Given the description of an element on the screen output the (x, y) to click on. 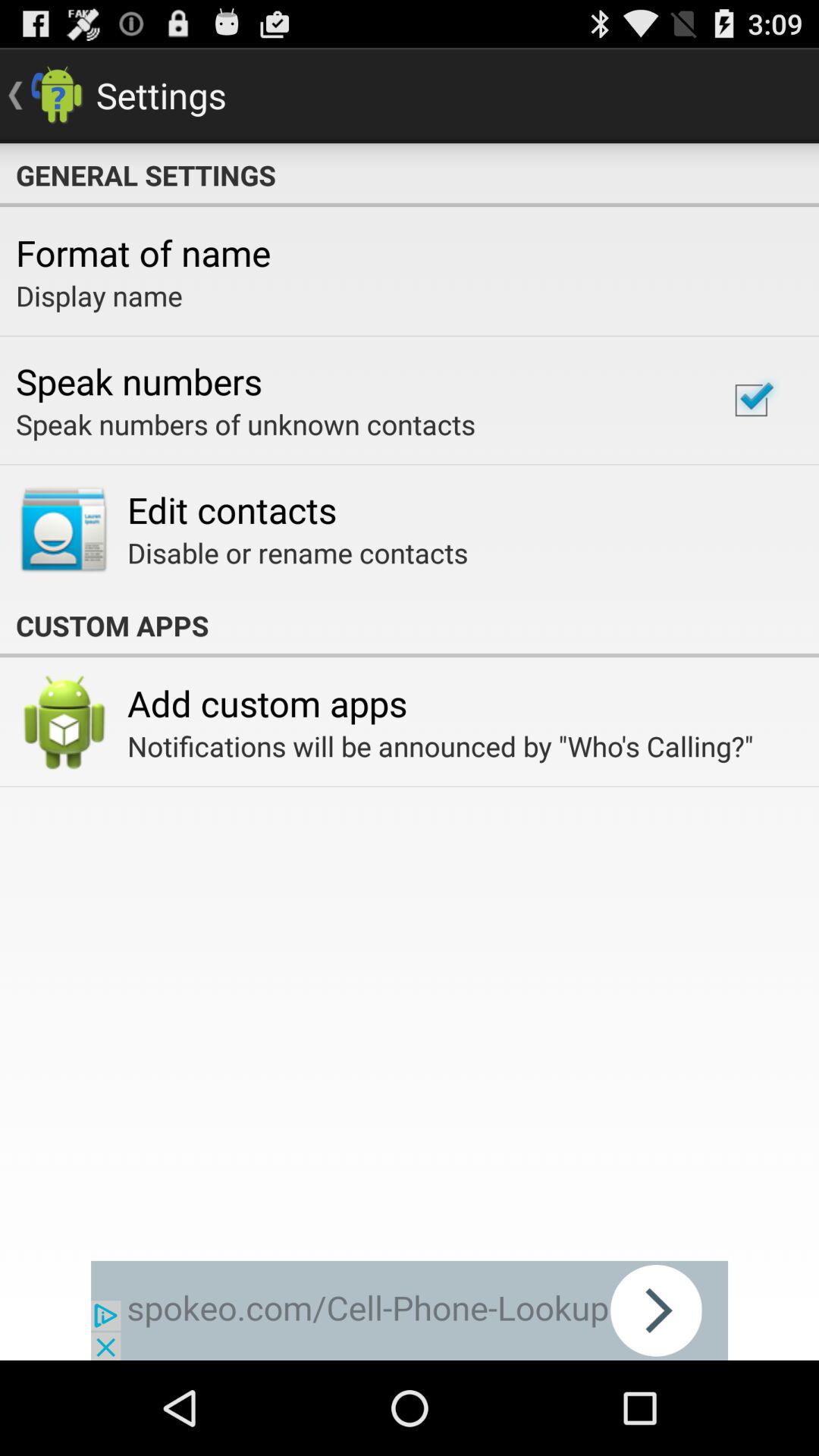
go to next page (409, 1310)
